Given the description of an element on the screen output the (x, y) to click on. 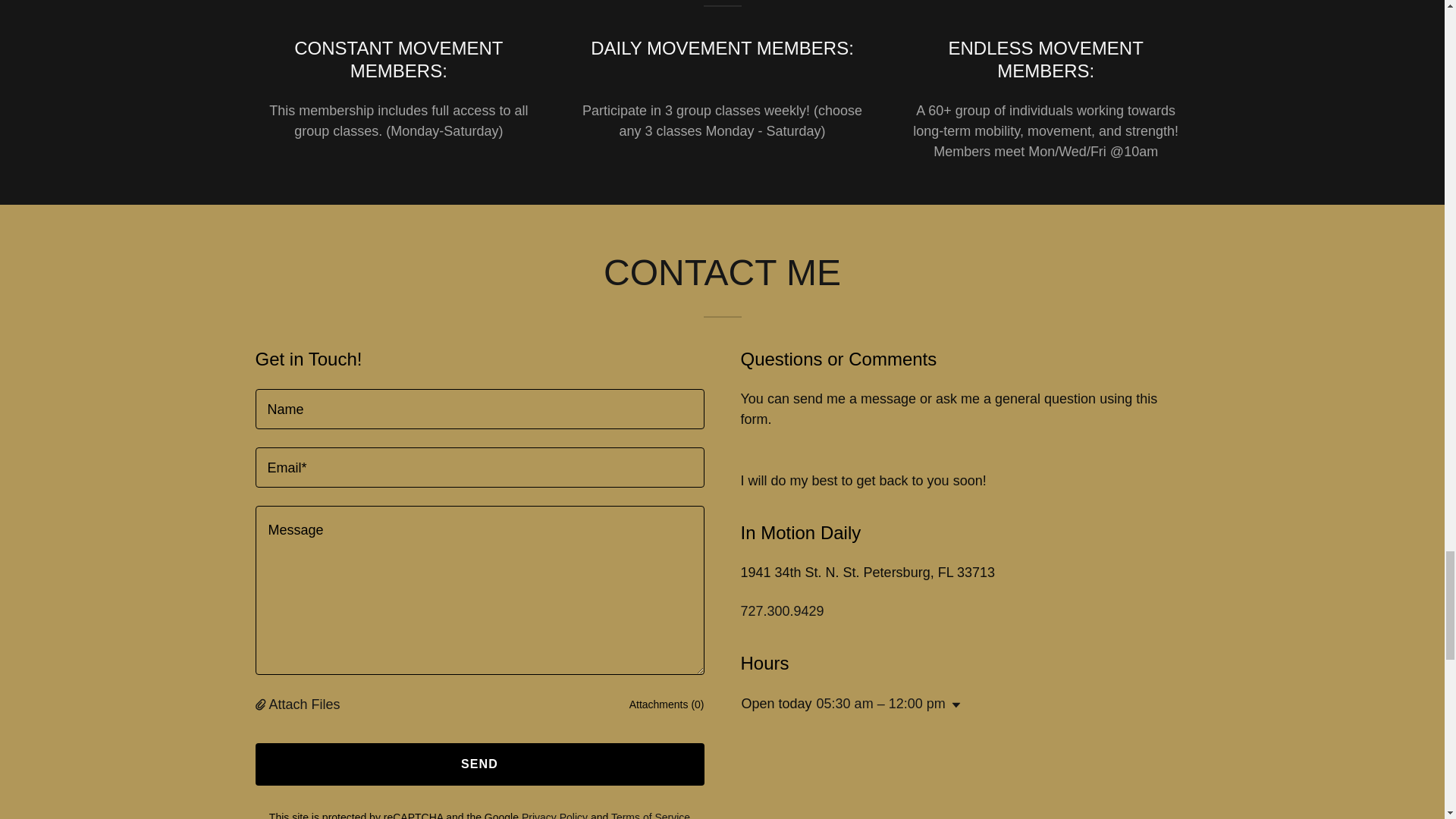
Privacy Policy (554, 815)
727.300.9429 (781, 611)
Terms of Service (650, 815)
SEND (478, 763)
